Given the description of an element on the screen output the (x, y) to click on. 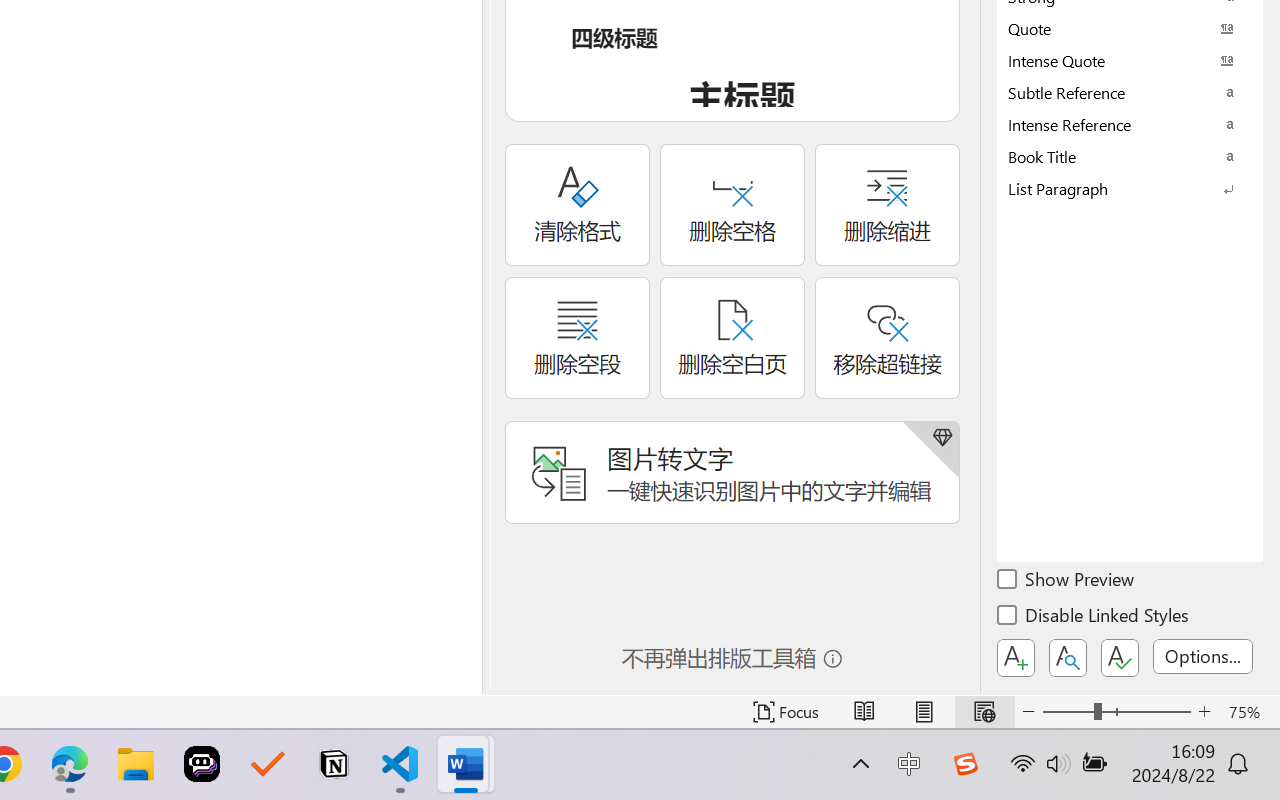
Subtle Reference (1130, 92)
Focus  (786, 712)
Intense Reference (1130, 124)
Disable Linked Styles (1094, 618)
Quote (1130, 28)
Zoom Out (1067, 712)
Read Mode (864, 712)
